Given the description of an element on the screen output the (x, y) to click on. 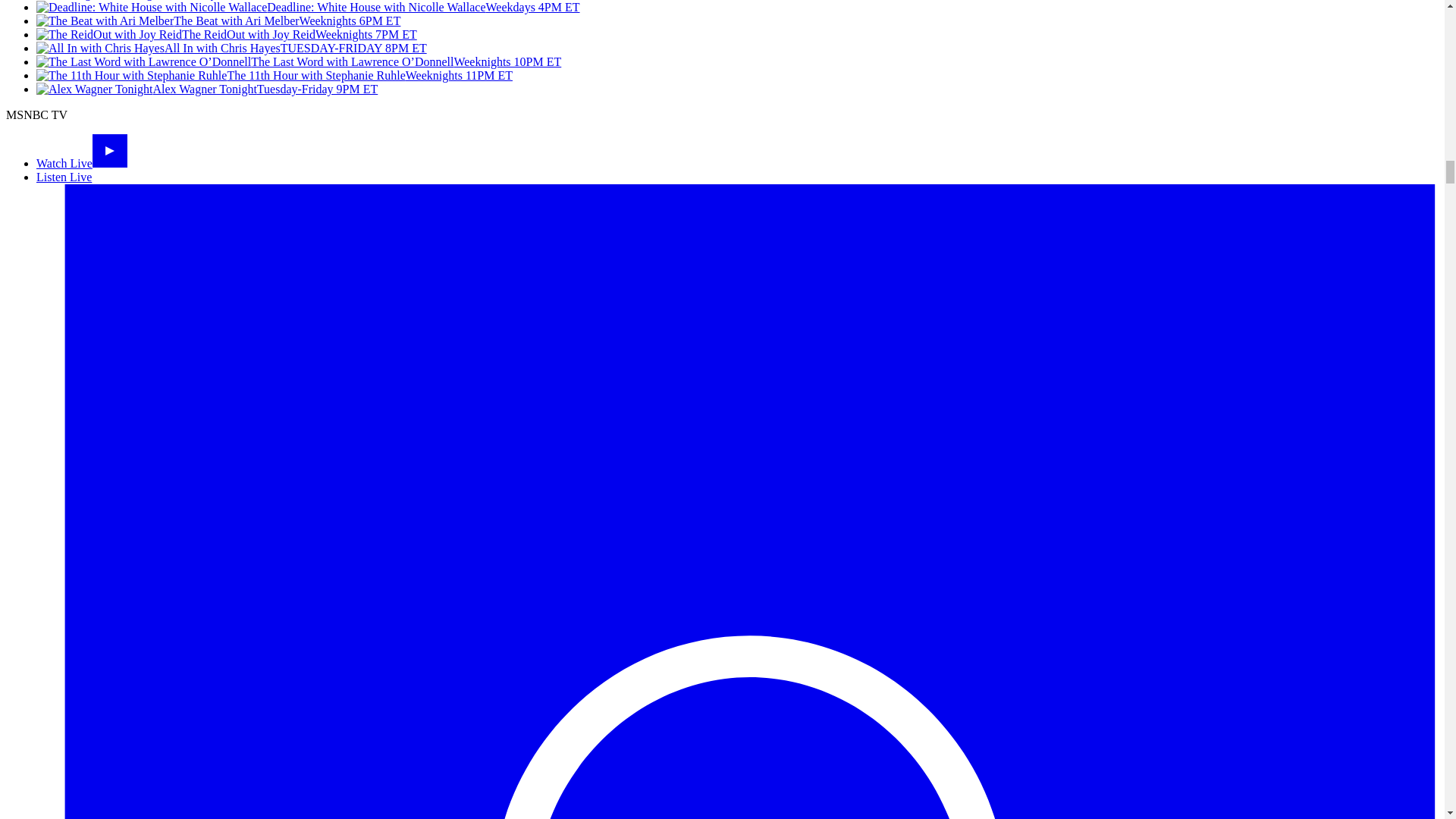
The ReidOut with Joy ReidWeeknights 7PM ET (226, 33)
Deadline: White House with Nicolle WallaceWeekdays 4PM ET (307, 6)
The 11th Hour with Stephanie RuhleWeeknights 11PM ET (274, 74)
Alex Wagner TonightTuesday-Friday 9PM ET (206, 88)
Watch Live (82, 163)
All In with Chris HayesTUESDAY-FRIDAY 8PM ET (231, 47)
The Beat with Ari MelberWeeknights 6PM ET (218, 20)
